Given the description of an element on the screen output the (x, y) to click on. 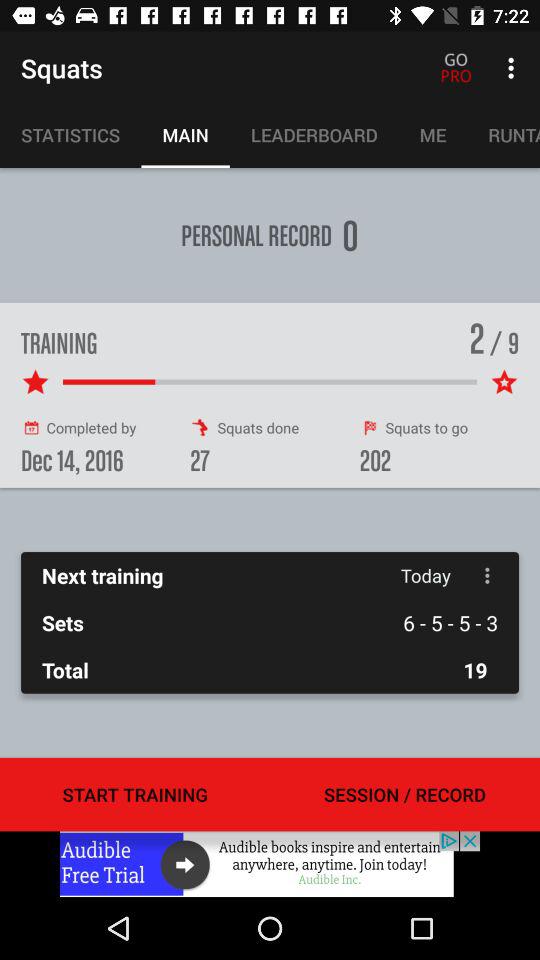
go to advertisement (270, 864)
